Given the description of an element on the screen output the (x, y) to click on. 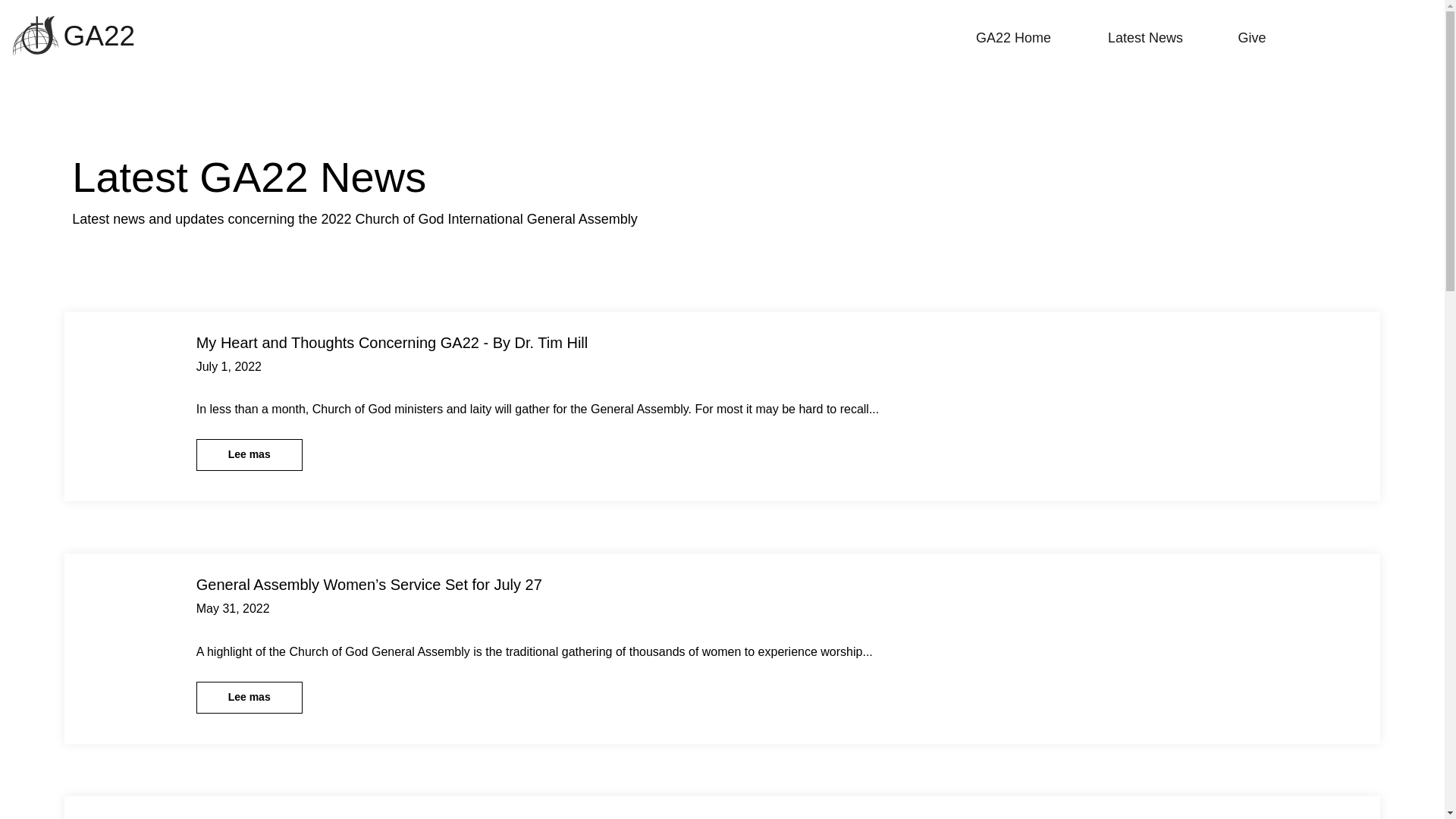
Latest News (1145, 38)
Lee mas (249, 454)
Give (1251, 38)
GA22 (99, 35)
GA22 Home (1013, 38)
Lee mas (249, 697)
